Given the description of an element on the screen output the (x, y) to click on. 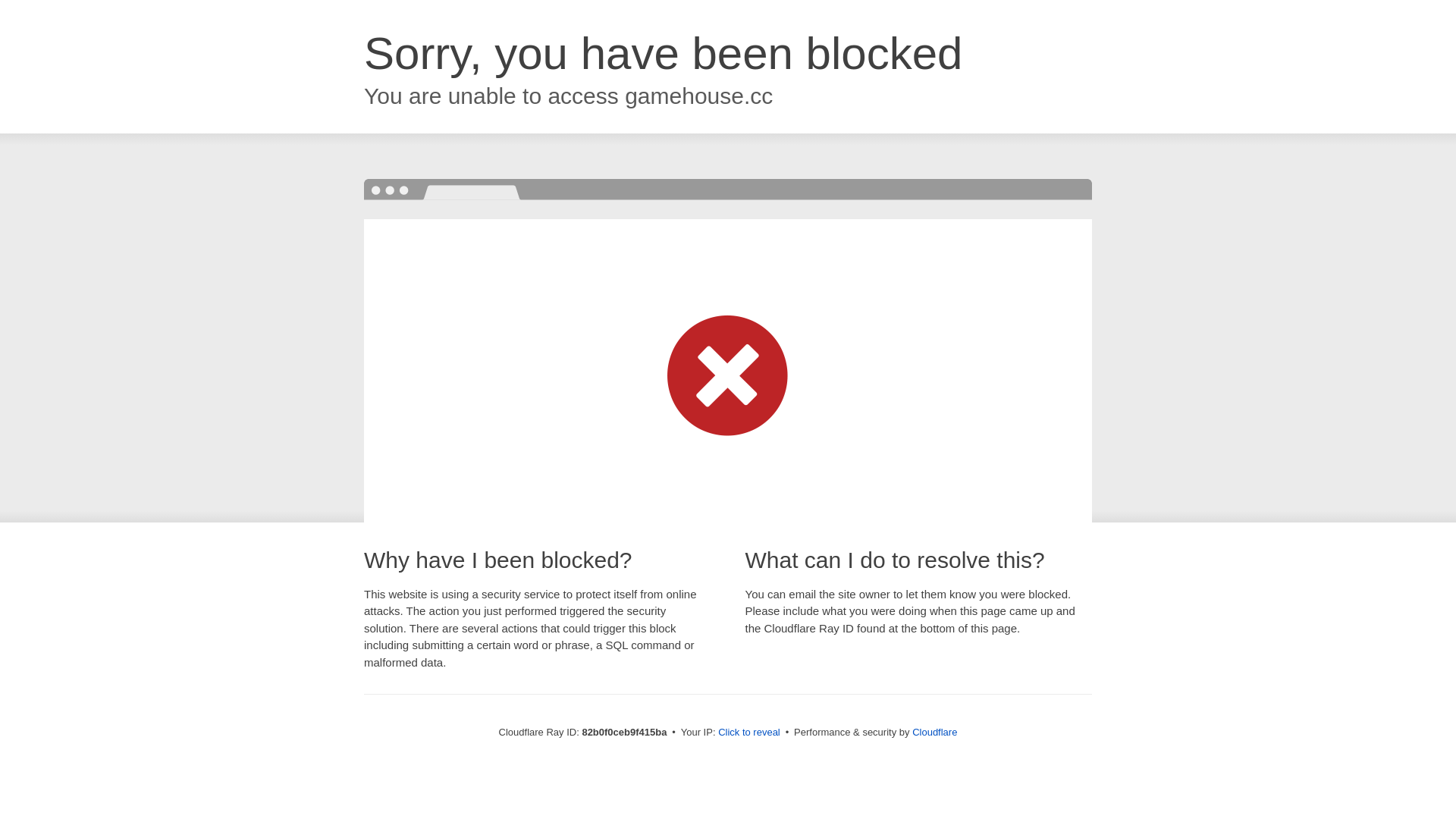
Cloudflare Element type: text (934, 731)
Click to reveal Element type: text (749, 732)
